Given the description of an element on the screen output the (x, y) to click on. 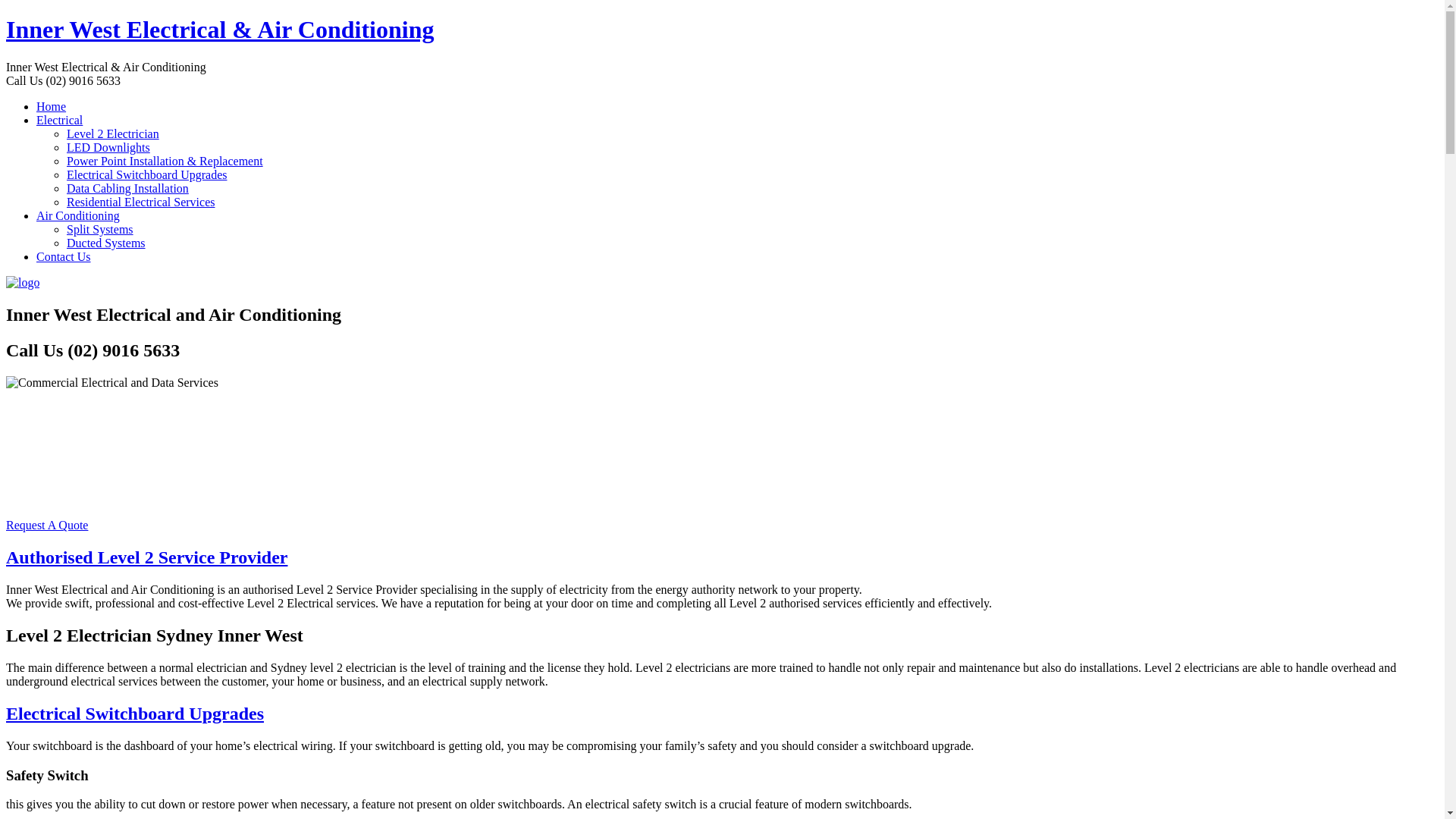
LED Downlights Element type: text (108, 147)
Electrical Switchboard Upgrades Element type: text (134, 713)
Request A Quote Element type: text (46, 524)
Electrical Switchboard Upgrades Element type: text (146, 174)
Power Point Installation & Replacement Element type: text (164, 160)
Residential Electrical Services Element type: text (140, 201)
Split Systems Element type: text (99, 228)
Home Element type: text (50, 106)
Inner West Electrical & Air Conditioning Element type: text (219, 29)
Contact Us Element type: text (63, 256)
Inner West Electrical and Air Conditioning 1 Element type: hover (112, 382)
Data Cabling Installation Element type: text (127, 188)
Ducted Systems Element type: text (105, 242)
Electrical Element type: text (59, 119)
Air Conditioning Element type: text (77, 215)
Inner West Electrical & Air Conditioning Element type: hover (22, 282)
Authorised Level 2 Service Provider Element type: text (146, 557)
Level 2 Electrician Element type: text (112, 133)
